Given the description of an element on the screen output the (x, y) to click on. 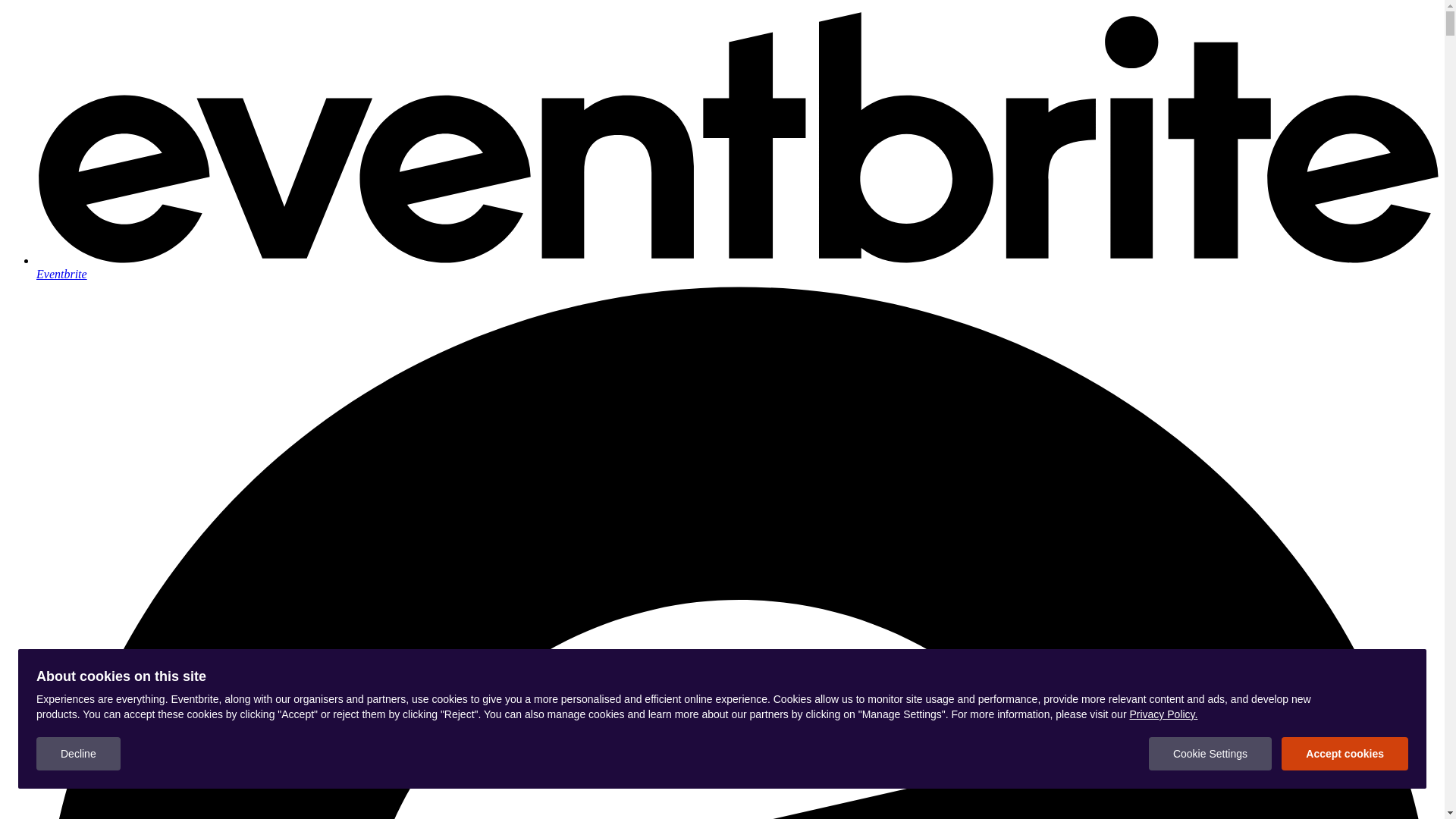
Accept cookies Element type: text (1344, 753)
Decline Element type: text (78, 753)
Privacy Policy. Element type: text (1163, 714)
Eventbrite Element type: text (737, 267)
Cookie Settings Element type: text (1209, 753)
